Given the description of an element on the screen output the (x, y) to click on. 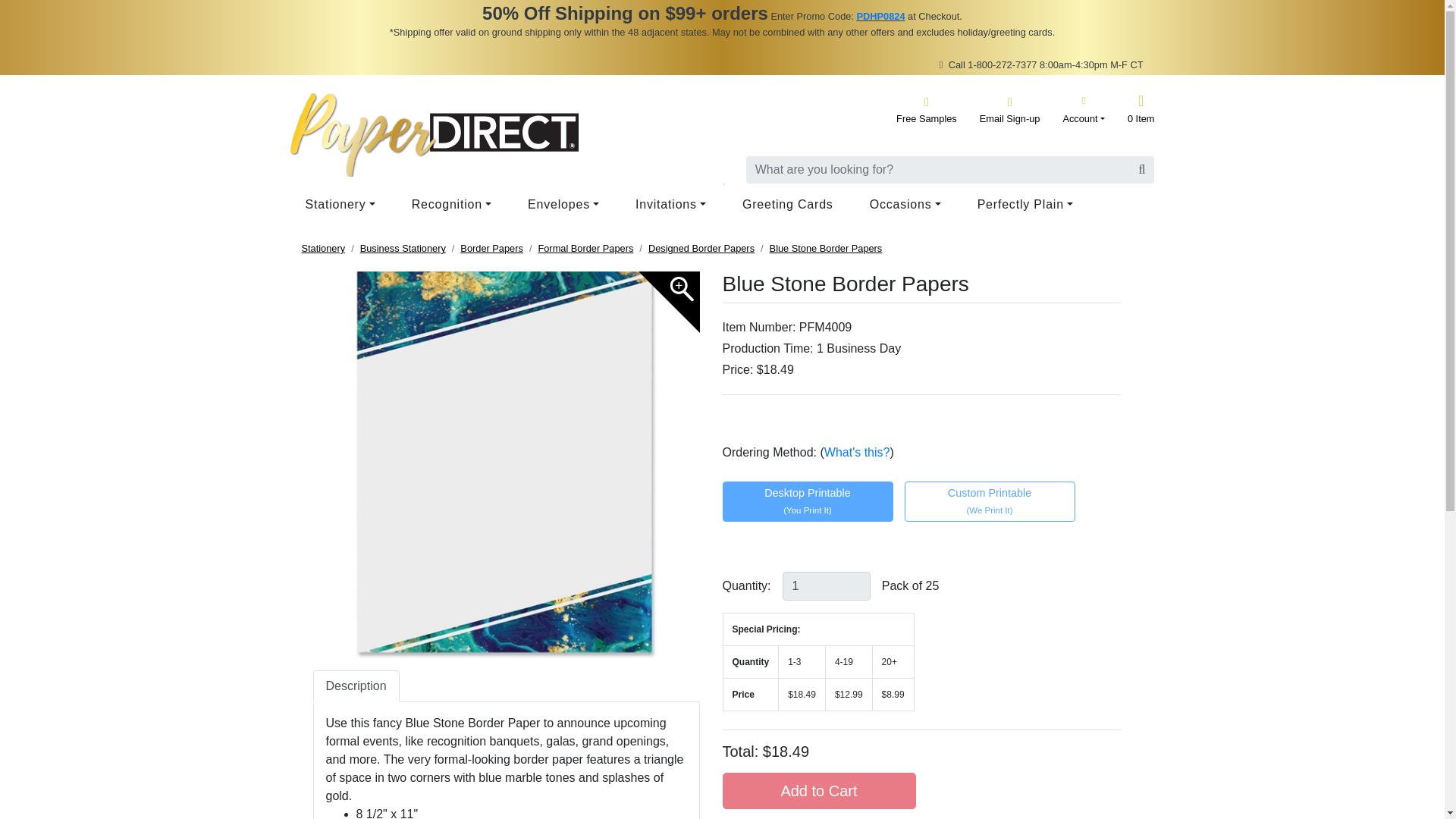
1 (826, 585)
Stationery (342, 204)
Account (1083, 109)
PDHP0824 (880, 16)
